Given the description of an element on the screen output the (x, y) to click on. 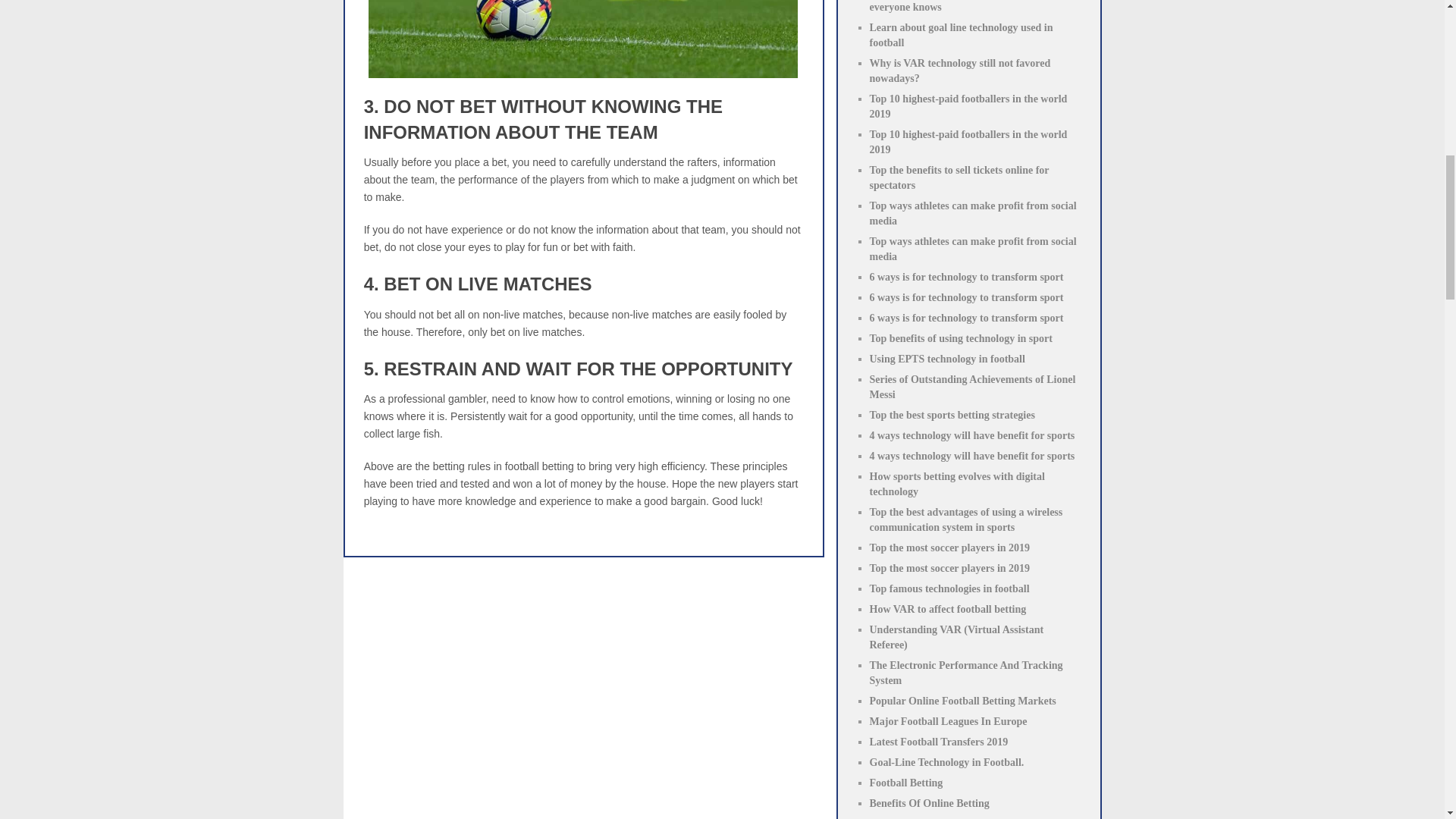
Why is VAR technology still not favored nowadays? (959, 70)
6 ways is for technology to transform sport (965, 297)
Learn about goal line technology used in football (960, 35)
Top benefits of using technology in sport (960, 337)
6 ways is for technology to transform sport (965, 317)
Helpful tips in football betting that not everyone knows (956, 6)
Top 10 highest-paid footballers in the world 2019 (968, 106)
Top 10 highest-paid footballers in the world 2019 (968, 141)
Top ways athletes can make profit from social media (972, 212)
Top the benefits to sell tickets online for spectators (958, 177)
